Given the description of an element on the screen output the (x, y) to click on. 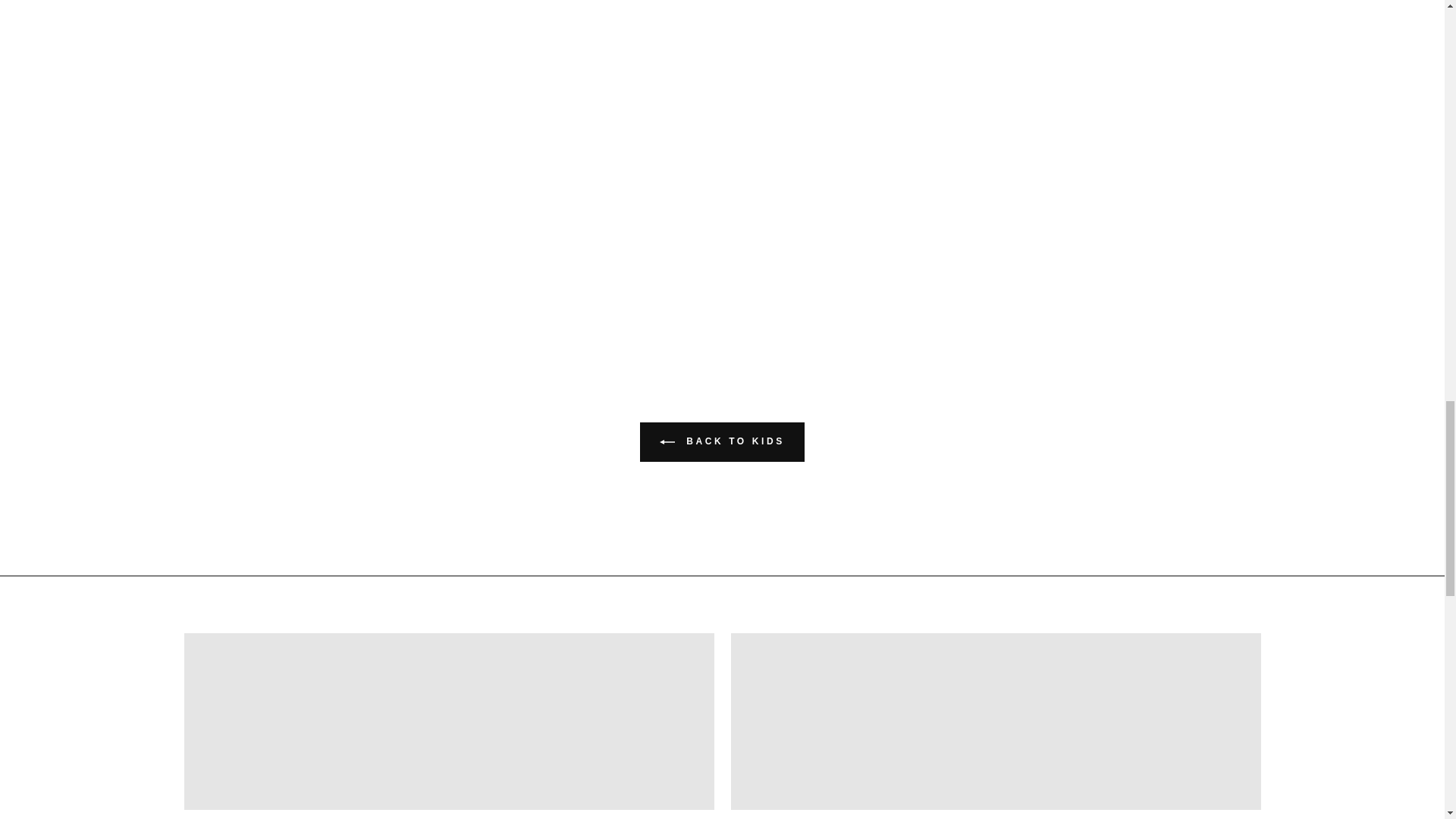
ICON-LEFT-ARROW (667, 441)
